Given the description of an element on the screen output the (x, y) to click on. 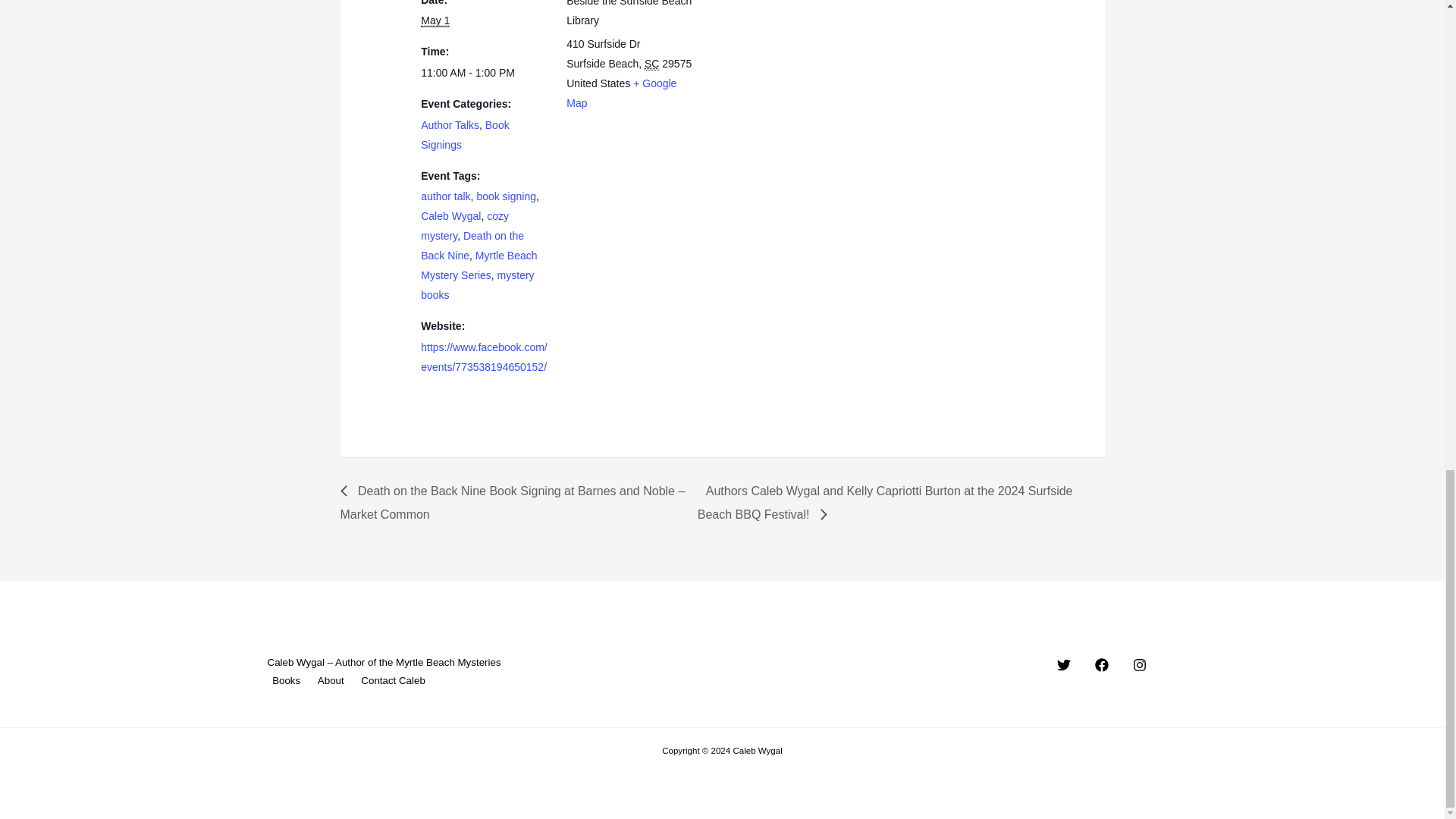
Death on the Back Nine (472, 245)
cozy mystery (464, 225)
author talk (445, 196)
South Carolina (652, 63)
Myrtle Beach Mystery Series (478, 265)
mystery books (477, 285)
Click to view a Google Map (621, 92)
Author Talks (449, 124)
Book Signings (464, 134)
2024-05-01 (434, 20)
